Given the description of an element on the screen output the (x, y) to click on. 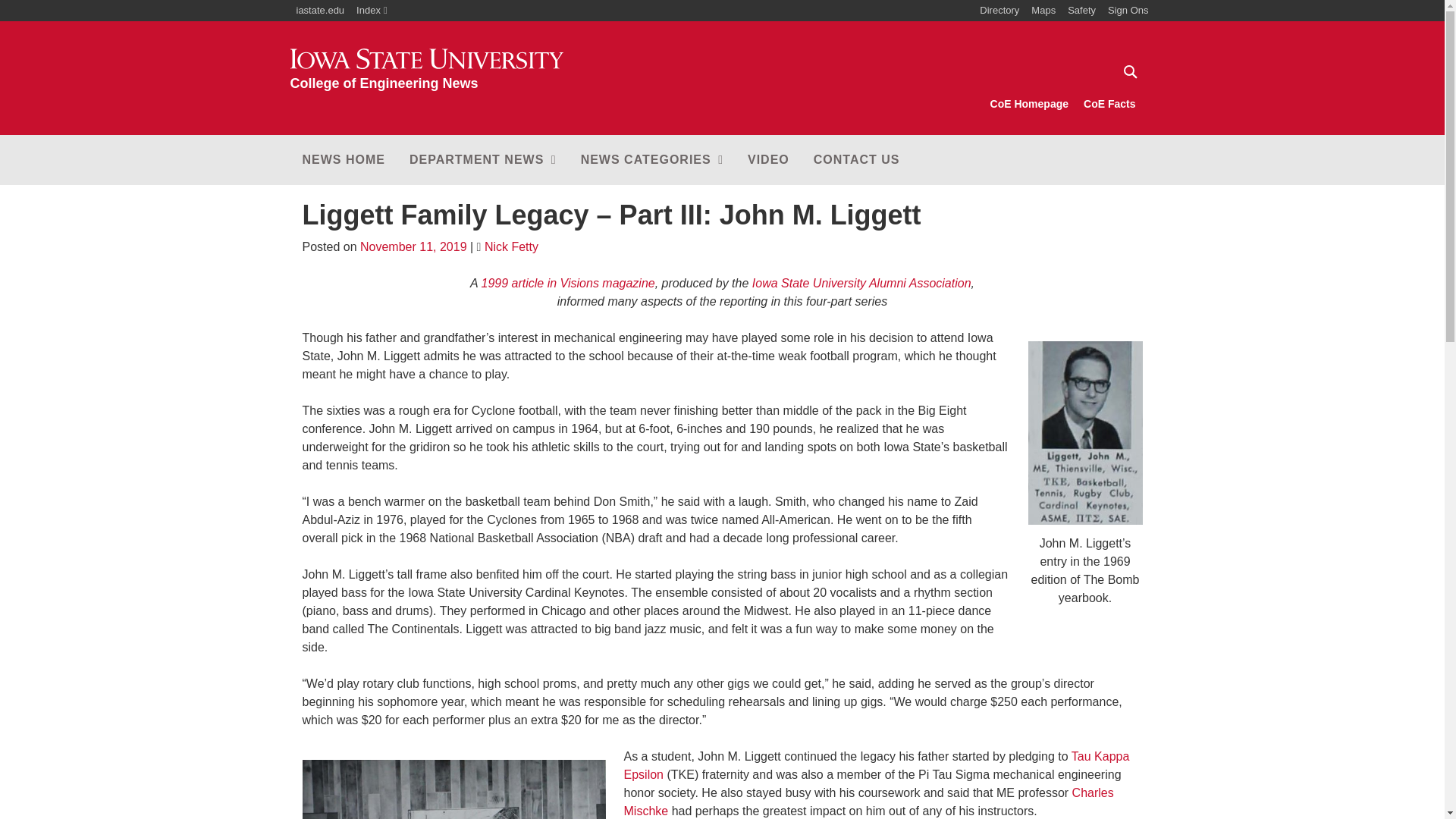
Directory (425, 69)
DEPARTMENT NEWS (999, 10)
NEWS HOME (483, 160)
Safety (342, 160)
iastate.edu (1081, 10)
CoE Facts (319, 10)
Index (1108, 103)
Sign Ons (371, 10)
Search (1128, 10)
CoE Homepage (1128, 71)
Maps (1028, 103)
Home (1043, 10)
